Given the description of an element on the screen output the (x, y) to click on. 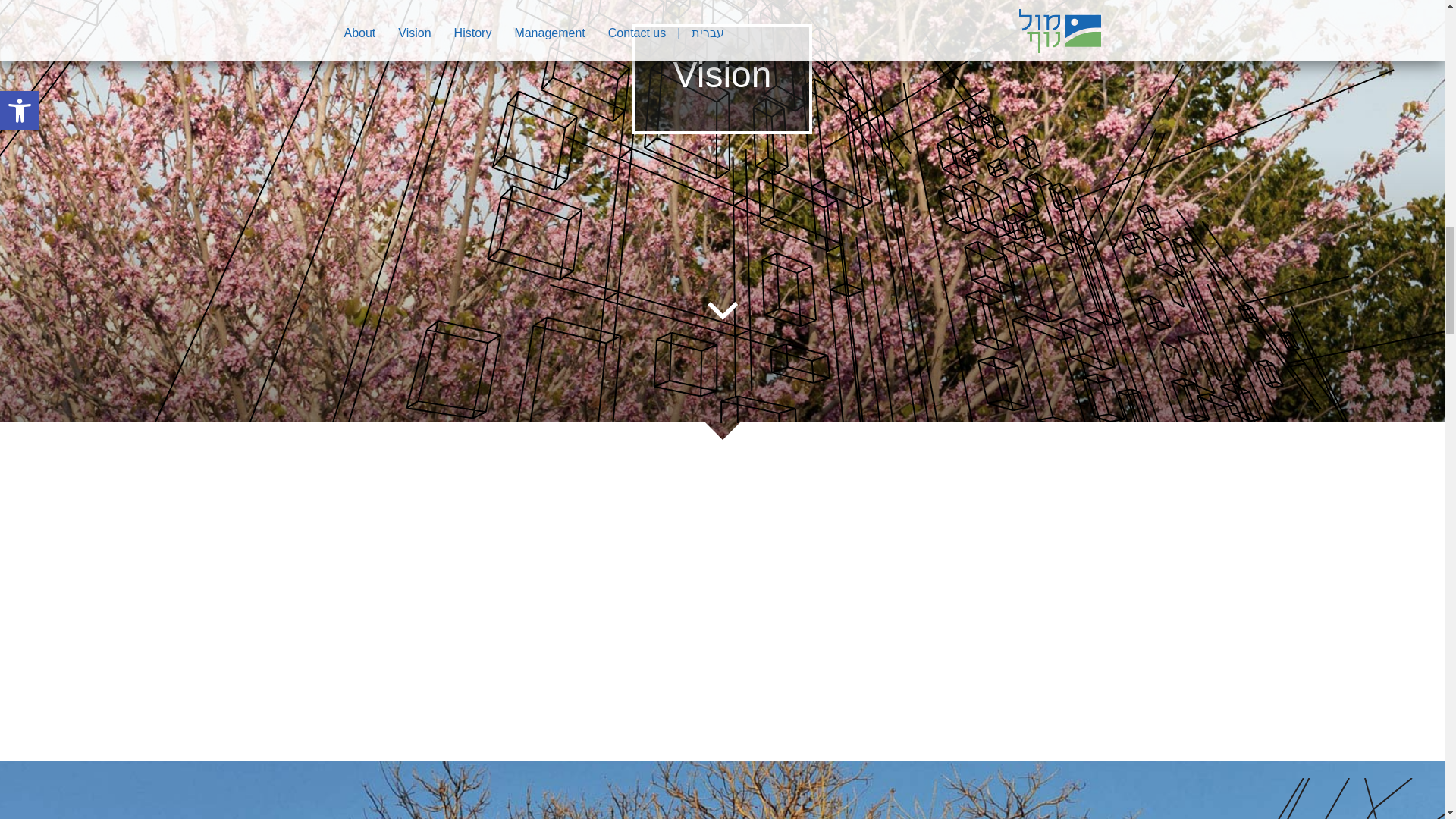
skip to content (721, 310)
